Given the description of an element on the screen output the (x, y) to click on. 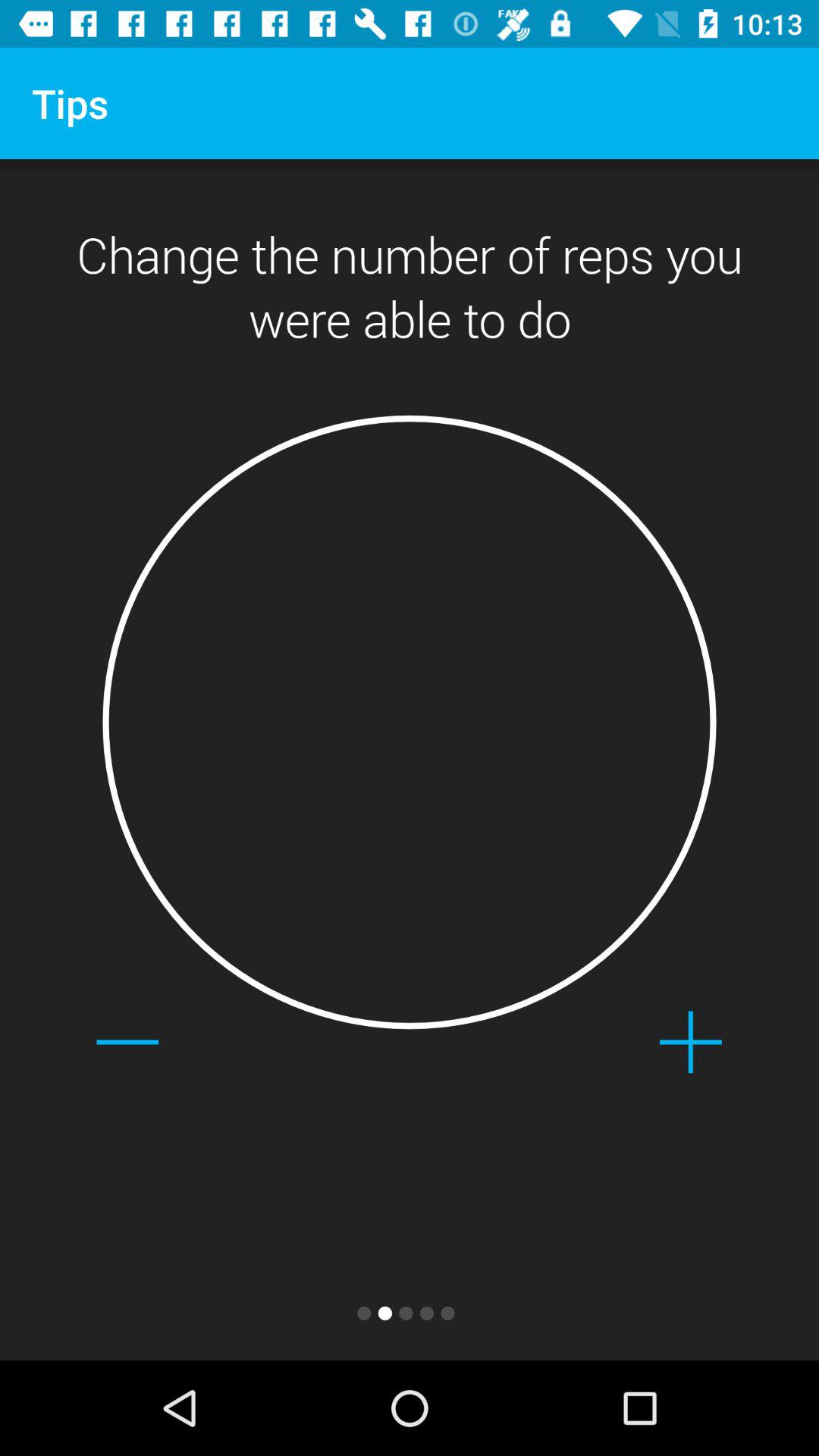
tap the item at the center (409, 722)
